Given the description of an element on the screen output the (x, y) to click on. 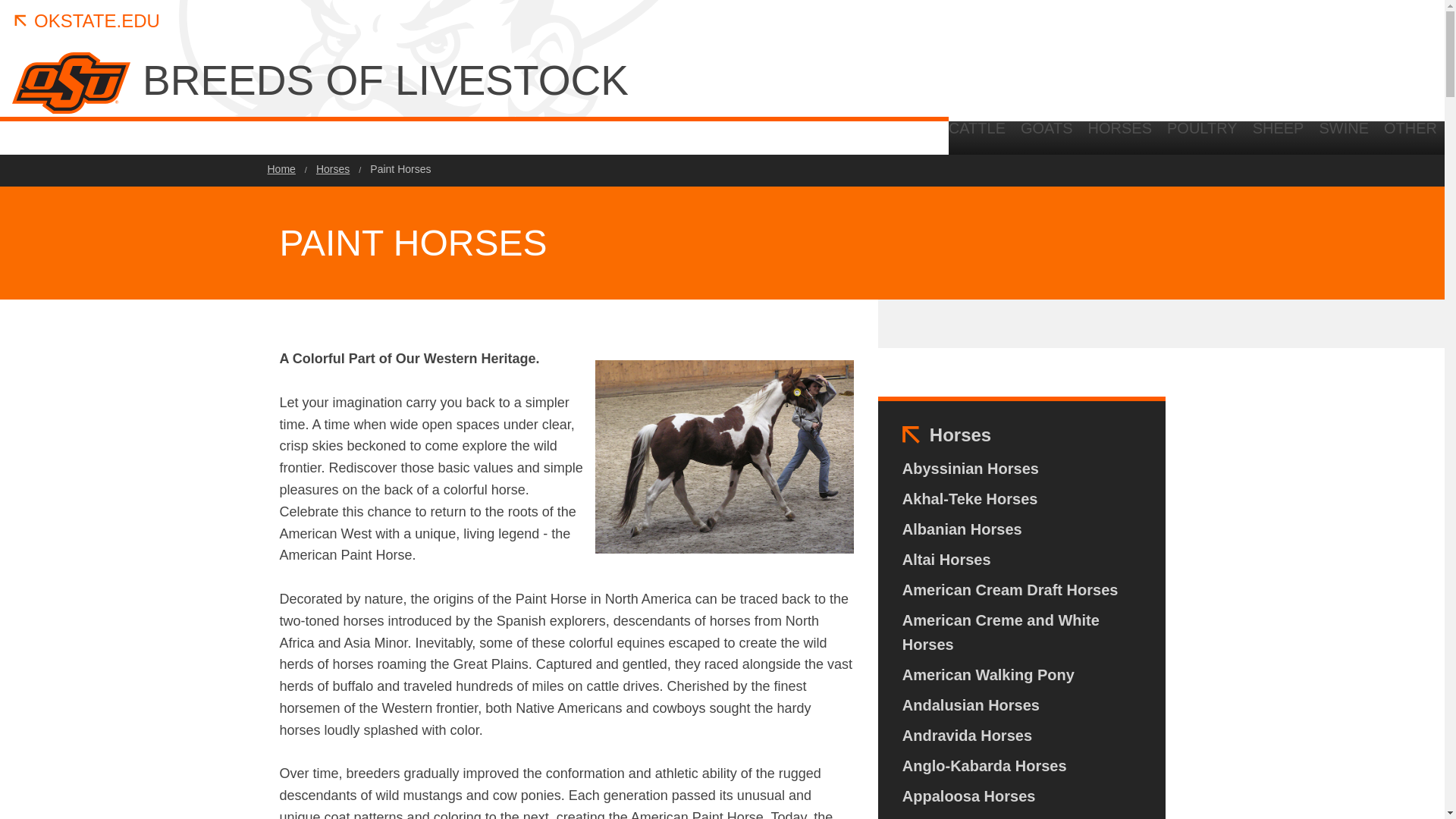
OKSTATE.EDU (85, 21)
GOATS (1046, 133)
Horses (960, 435)
Horses (332, 168)
Department of Animal and Food Sciences (1251, 137)
Search (1344, 261)
Akhal-Teke Horses (970, 498)
SWINE (1343, 133)
Paint Horses (399, 168)
OSU Extension (1395, 137)
BREEDS OF LIVESTOCK (521, 80)
American Creme and White Horses (1021, 632)
SHEEP (1277, 133)
CATTLE (981, 133)
Altai Horses (946, 559)
